Given the description of an element on the screen output the (x, y) to click on. 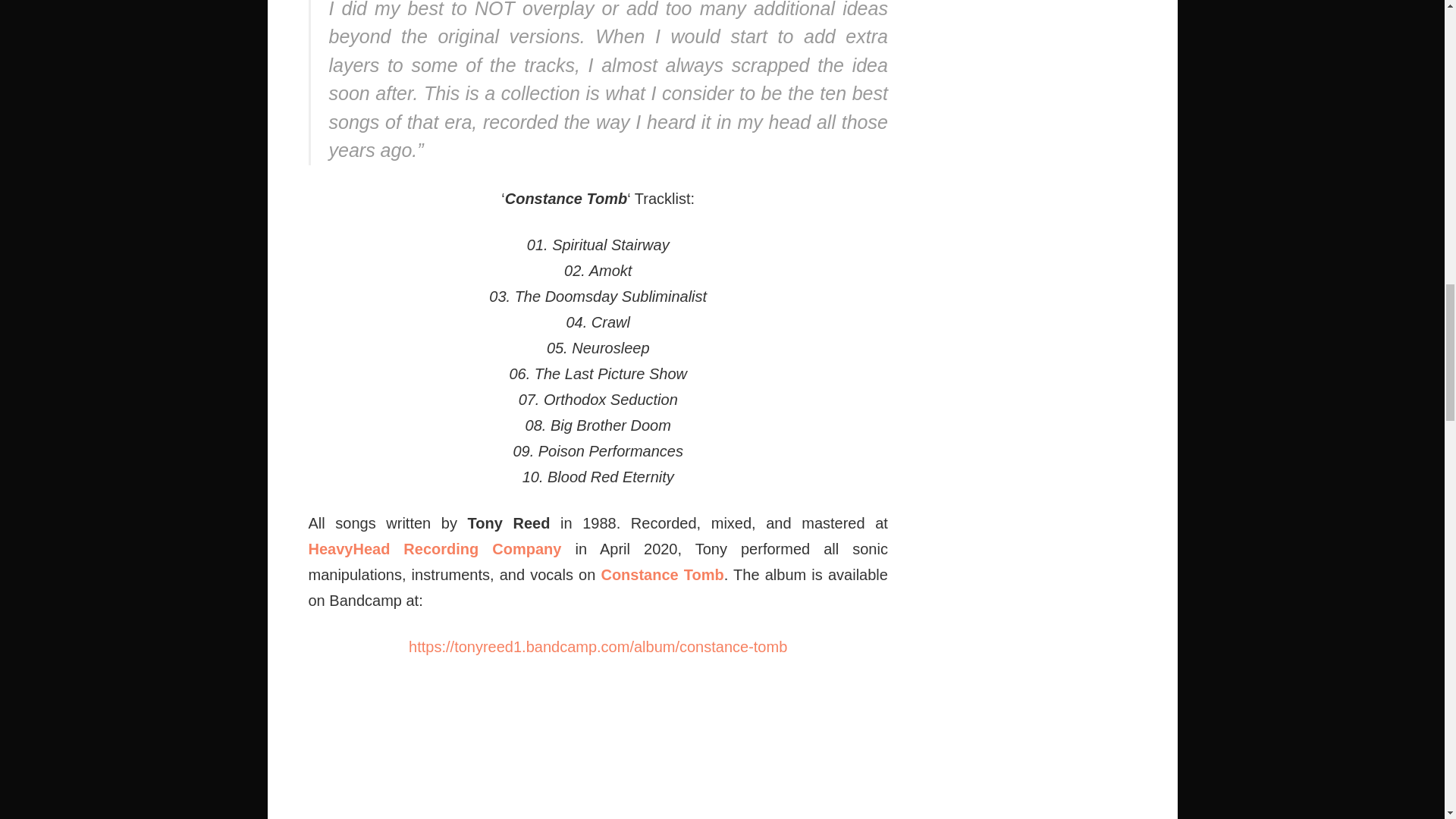
Constance Tomb (661, 574)
HeavyHead Recording Company (433, 548)
